Given the description of an element on the screen output the (x, y) to click on. 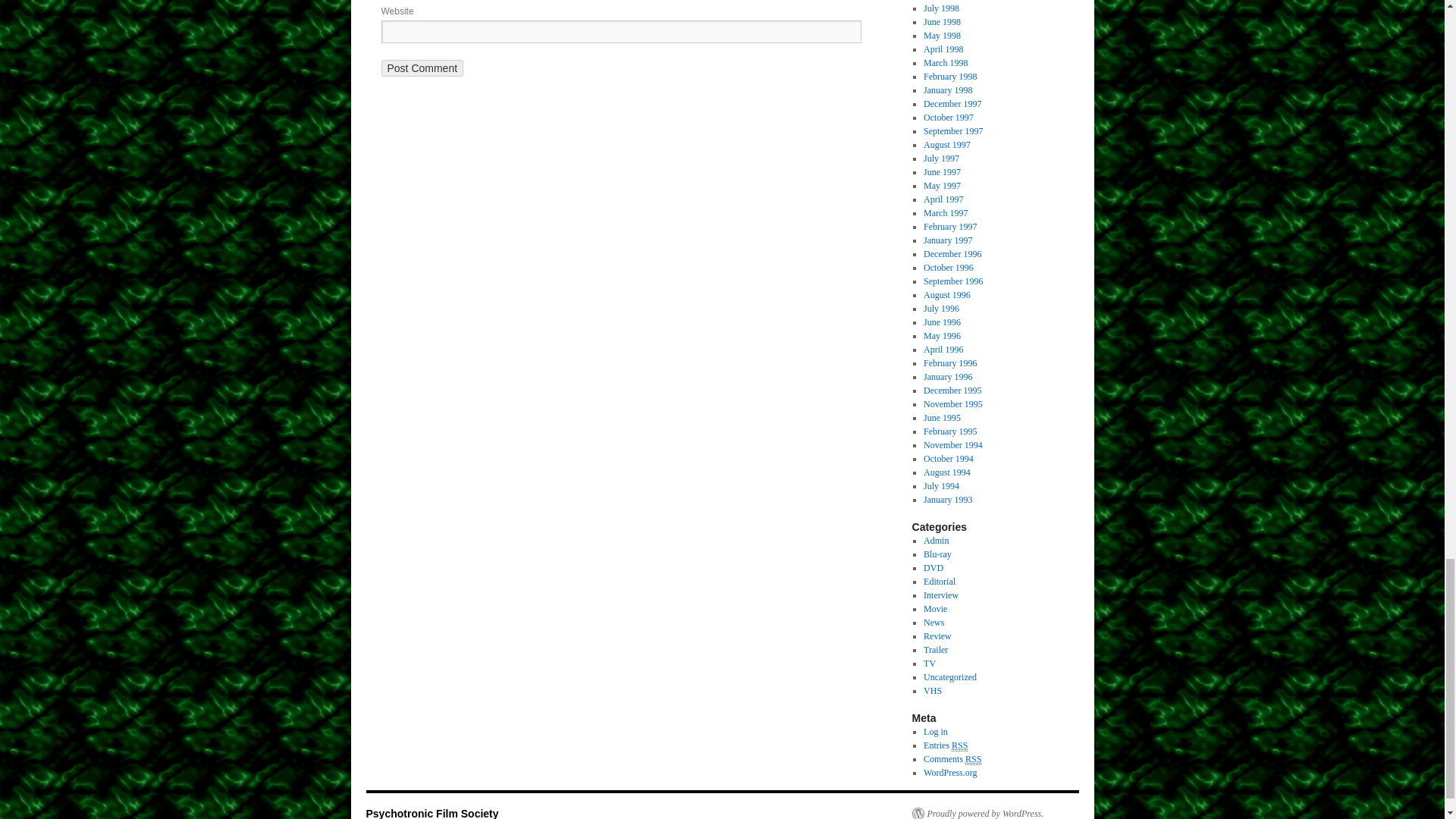
DVD release review (933, 567)
Post Comment (421, 67)
Theatrical release review (935, 608)
Really Simple Syndication (960, 745)
News and info about the site and PFS (936, 540)
TV broadcast or video release review (929, 663)
Really Simple Syndication (973, 758)
Previews of Coming Attractions (935, 649)
